Given the description of an element on the screen output the (x, y) to click on. 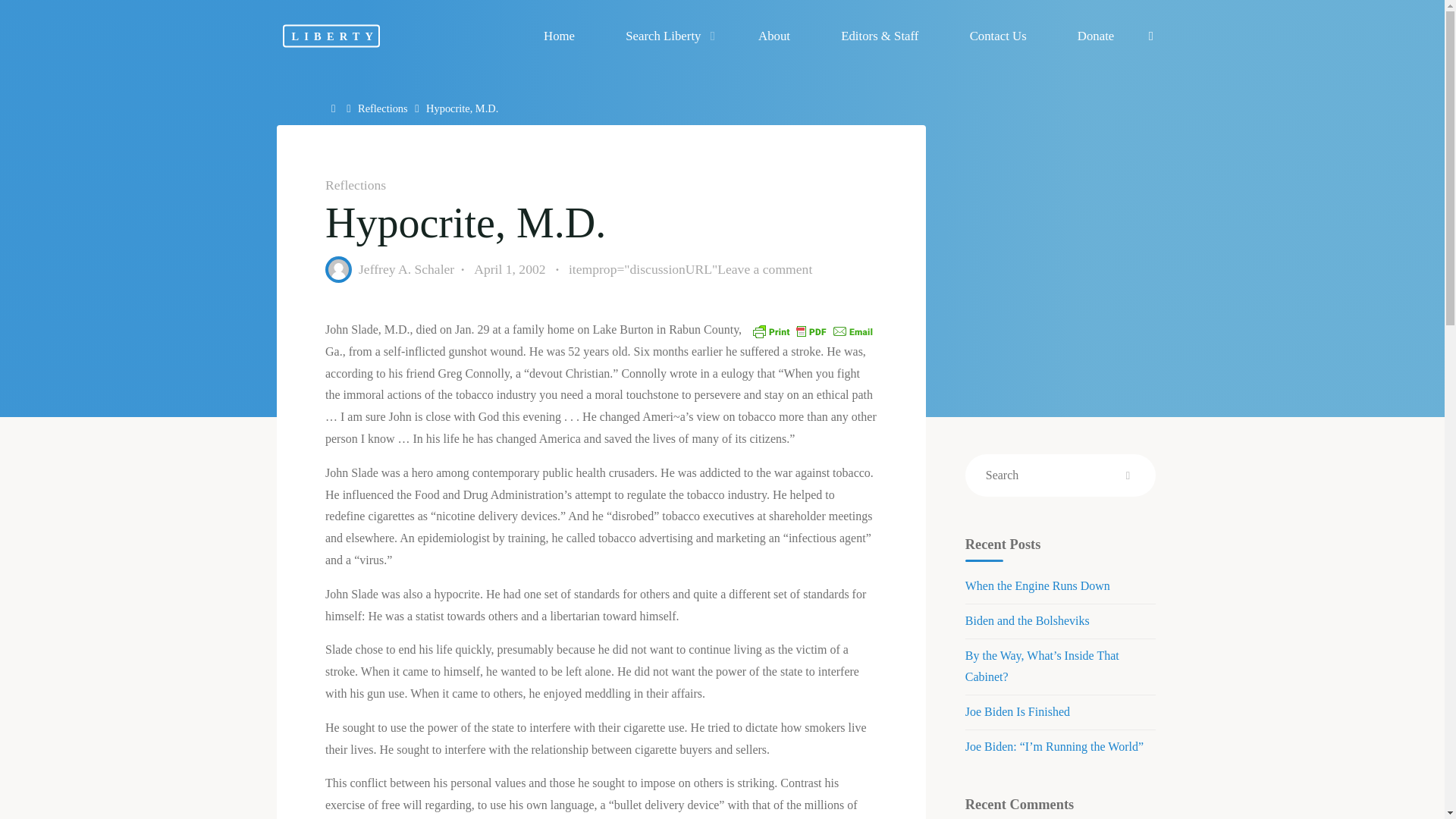
View all posts by Jeffrey A. Schaler (405, 268)
Donate (1095, 35)
Search Liberty (666, 35)
Jump to comments (688, 269)
Page 18 (600, 768)
Home (334, 108)
Contact Us (997, 35)
Reflections (354, 184)
Leave a comment (764, 268)
Home (334, 108)
